Given the description of an element on the screen output the (x, y) to click on. 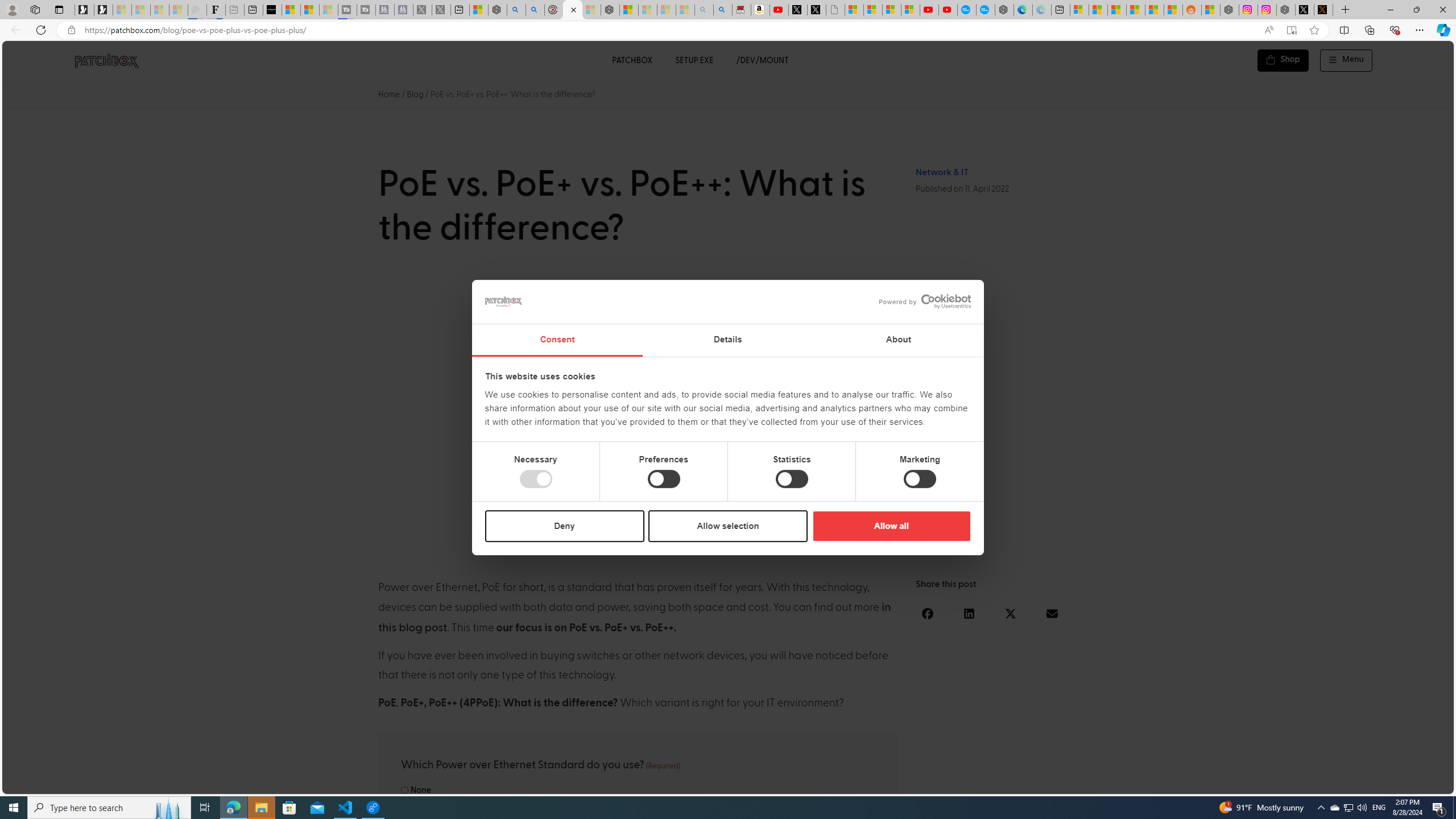
Powered by Cookiebot (925, 301)
Menu Off-Canvas (1346, 60)
Language switcher : Norwegian (1288, 782)
Statistics (791, 479)
Language switcher : German (1231, 782)
